Given the description of an element on the screen output the (x, y) to click on. 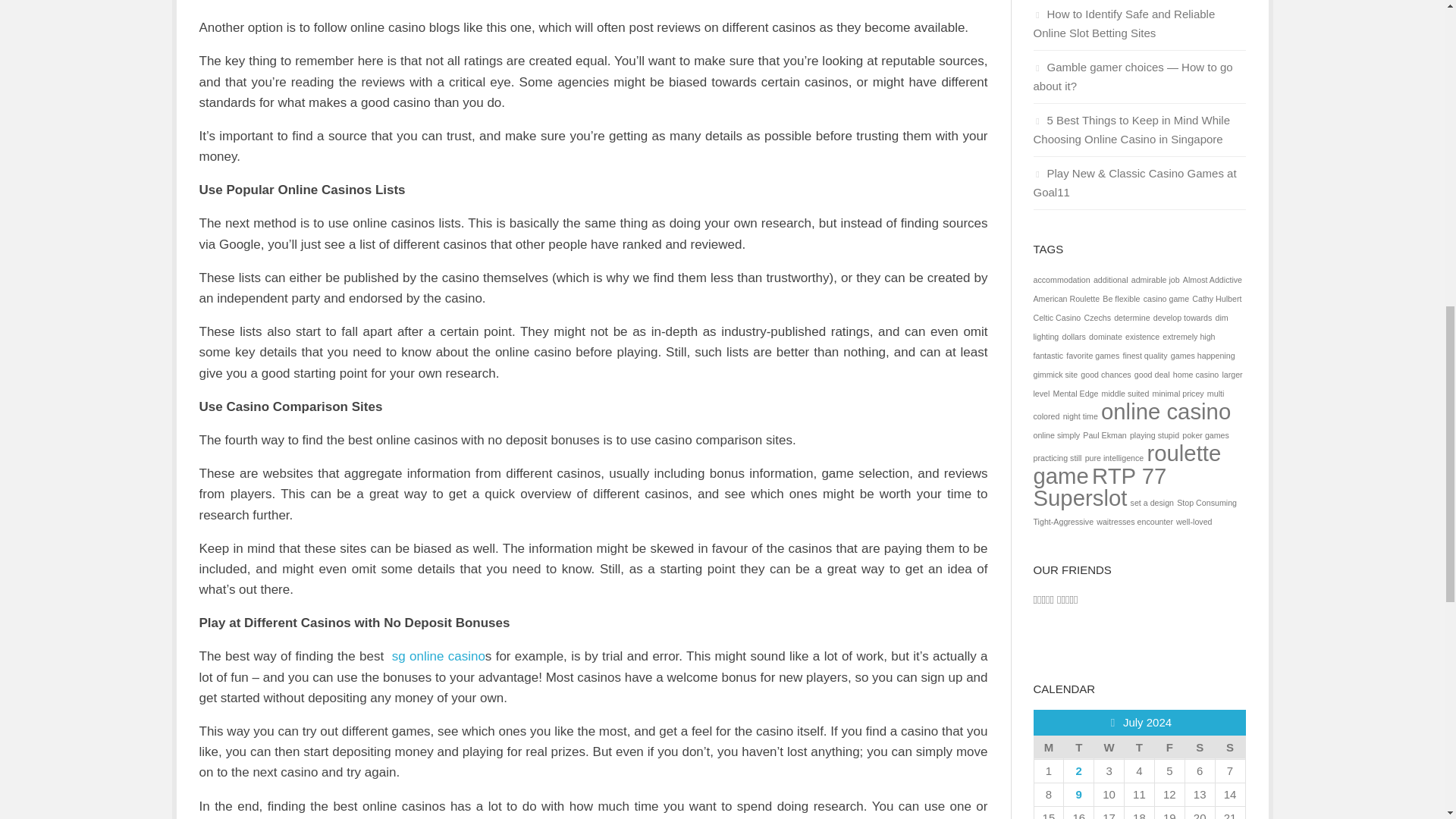
Monday (1048, 747)
Saturday (1199, 747)
Friday (1169, 747)
Sunday (1229, 747)
sg online casino (437, 656)
Wednesday (1109, 747)
How to Identify Safe and Reliable Online Slot Betting Sites (1123, 23)
Thursday (1139, 747)
Tuesday (1079, 747)
